Given the description of an element on the screen output the (x, y) to click on. 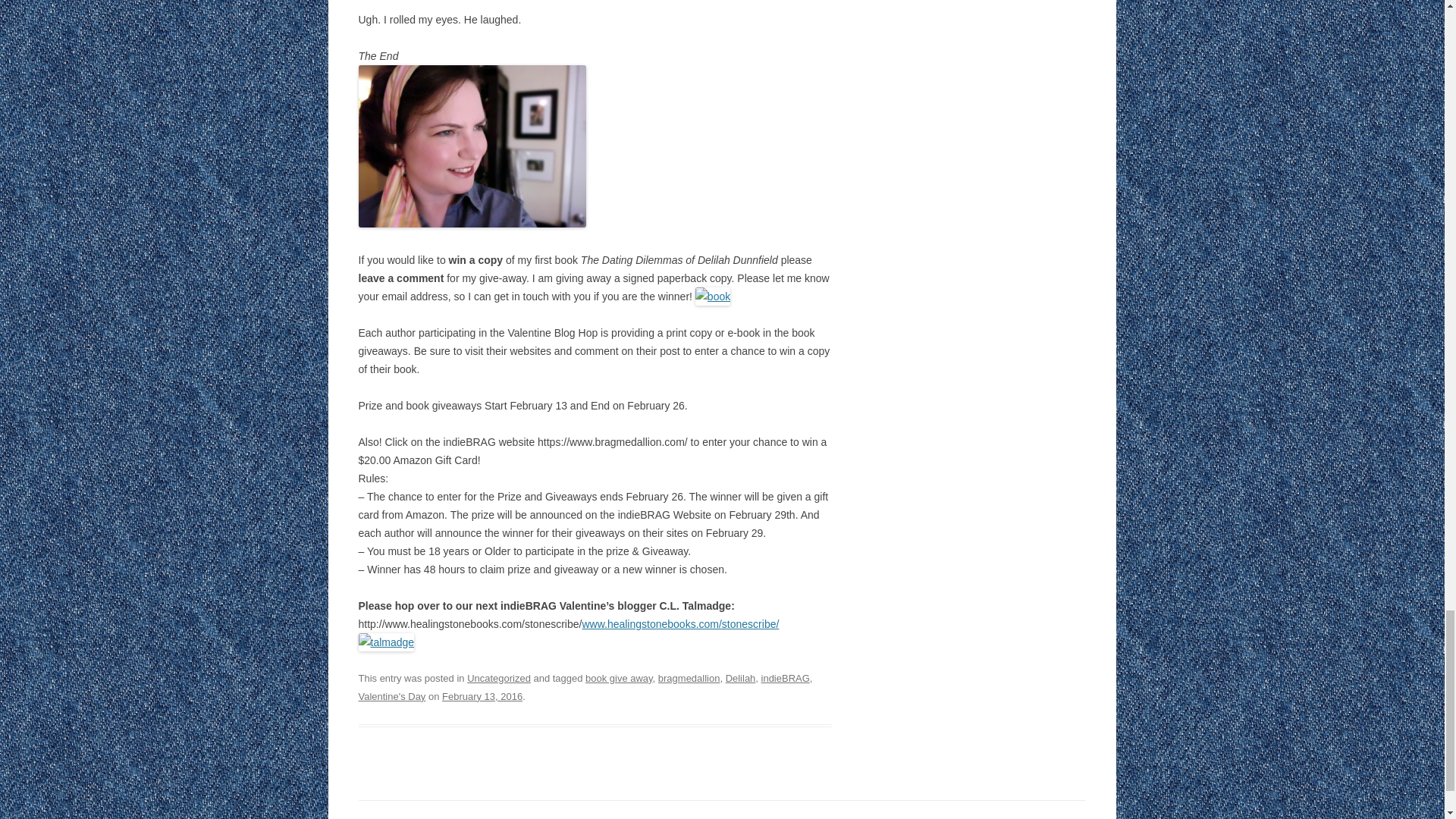
February 13, 2016 (482, 696)
Uncategorized (499, 677)
Delilah (740, 677)
indieBRAG (785, 677)
12:01 am (482, 696)
book give away (618, 677)
bragmedallion (689, 677)
Valentine's Day (391, 696)
